Given the description of an element on the screen output the (x, y) to click on. 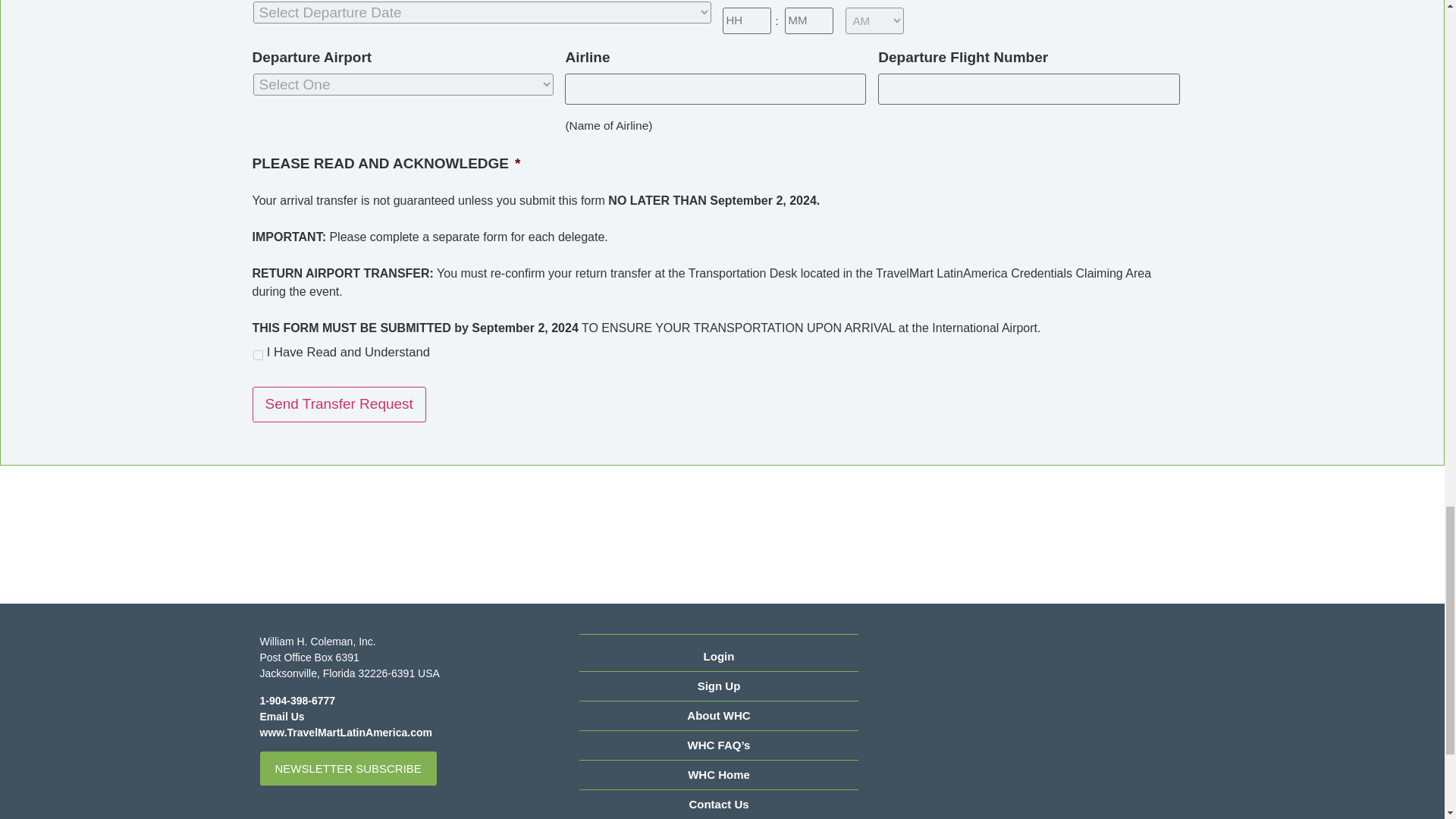
Send Transfer Request (338, 404)
I Have Read and Understand (258, 355)
